Given the description of an element on the screen output the (x, y) to click on. 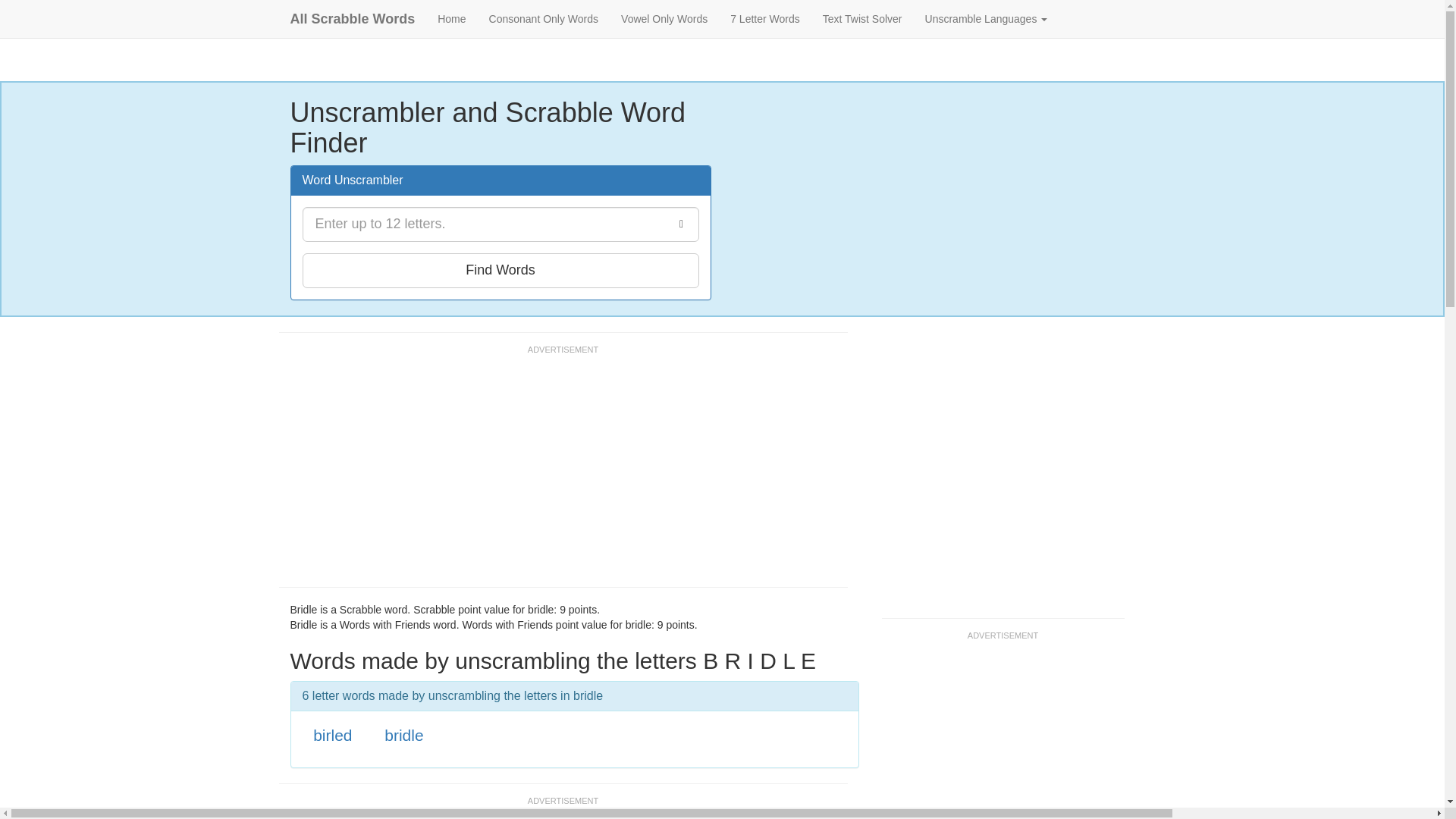
Vowel Only Scrabble Words (664, 18)
Find Words (499, 270)
Unscramble Letters and Scrabble Finder (352, 18)
Seven Letter Scrabble Words (764, 18)
Consonant Only Scrabble Words (543, 18)
Text Twist Solver (862, 18)
Consonant Only Words (543, 18)
Unscramble Letters and Scrabble Finder (451, 18)
All Scrabble Words (352, 18)
Vowel Only Words (664, 18)
Unscramble Languages (986, 18)
Advertisement (555, 472)
birled (332, 734)
7 Letter Words (764, 18)
